Given the description of an element on the screen output the (x, y) to click on. 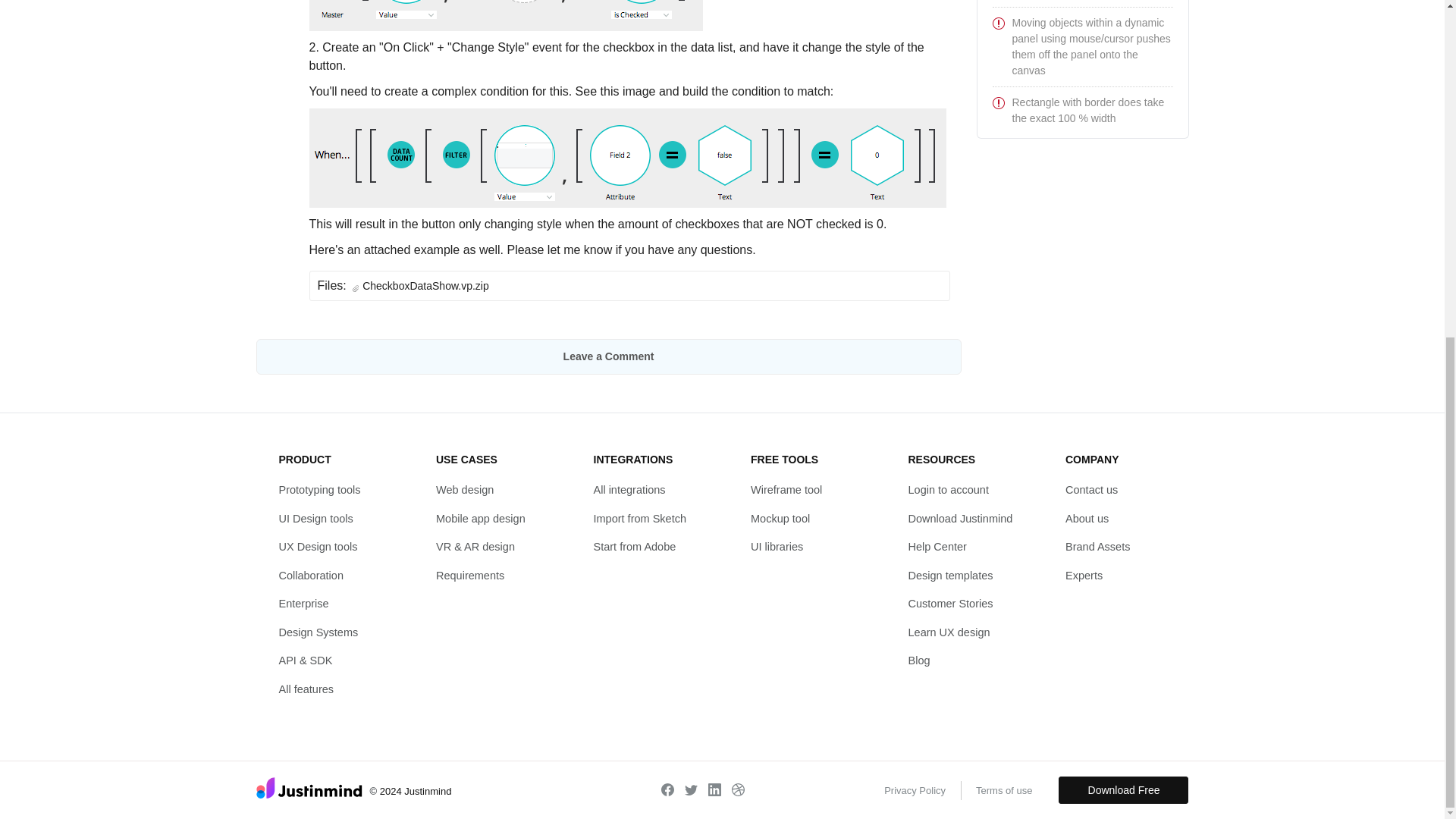
justinmind-logo (309, 787)
